Given the description of an element on the screen output the (x, y) to click on. 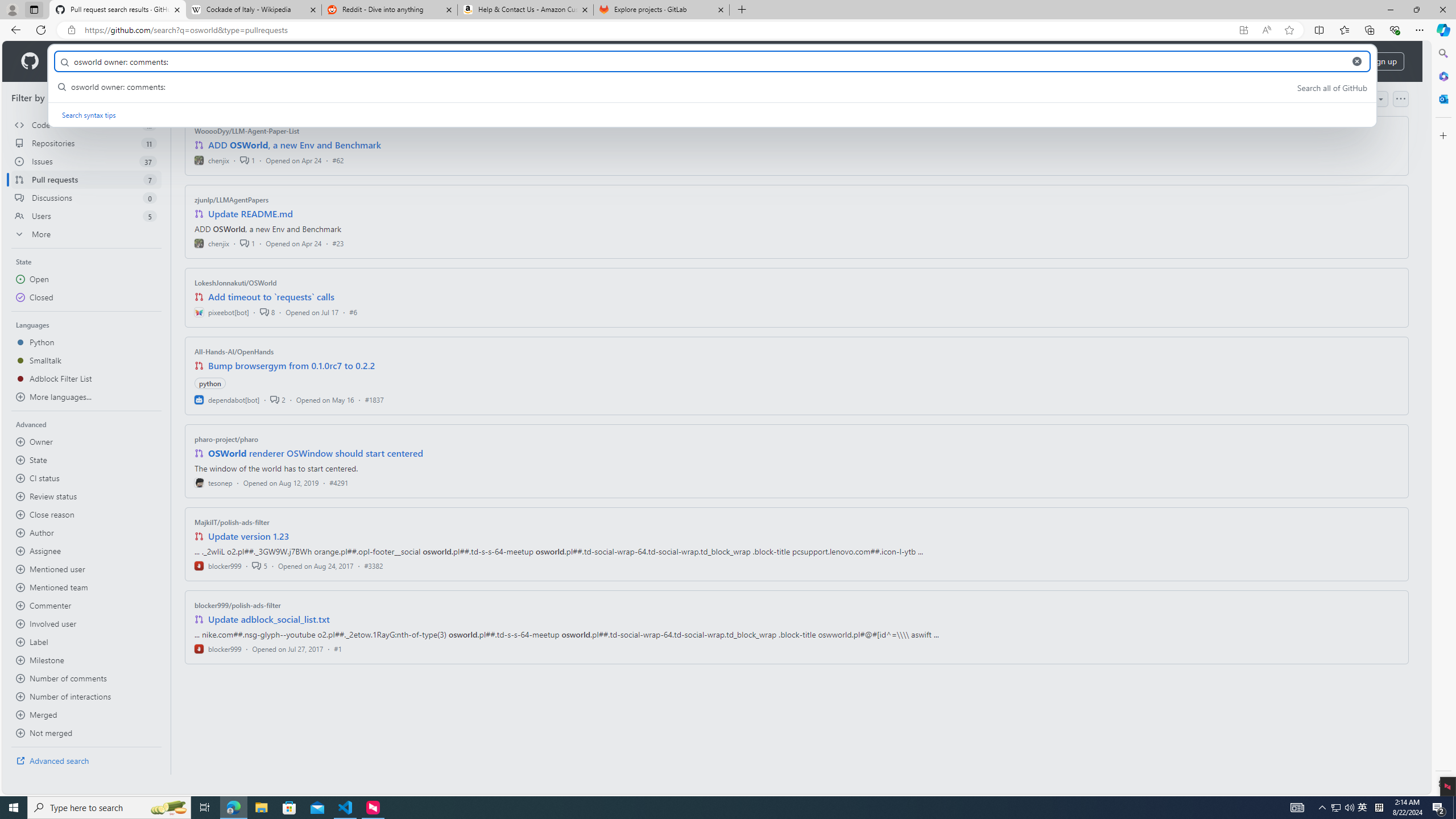
5 (259, 565)
pixeebot[bot] (221, 311)
#3382 (373, 565)
Pricing (368, 60)
Open Source (254, 60)
blocker999 (218, 648)
